Given the description of an element on the screen output the (x, y) to click on. 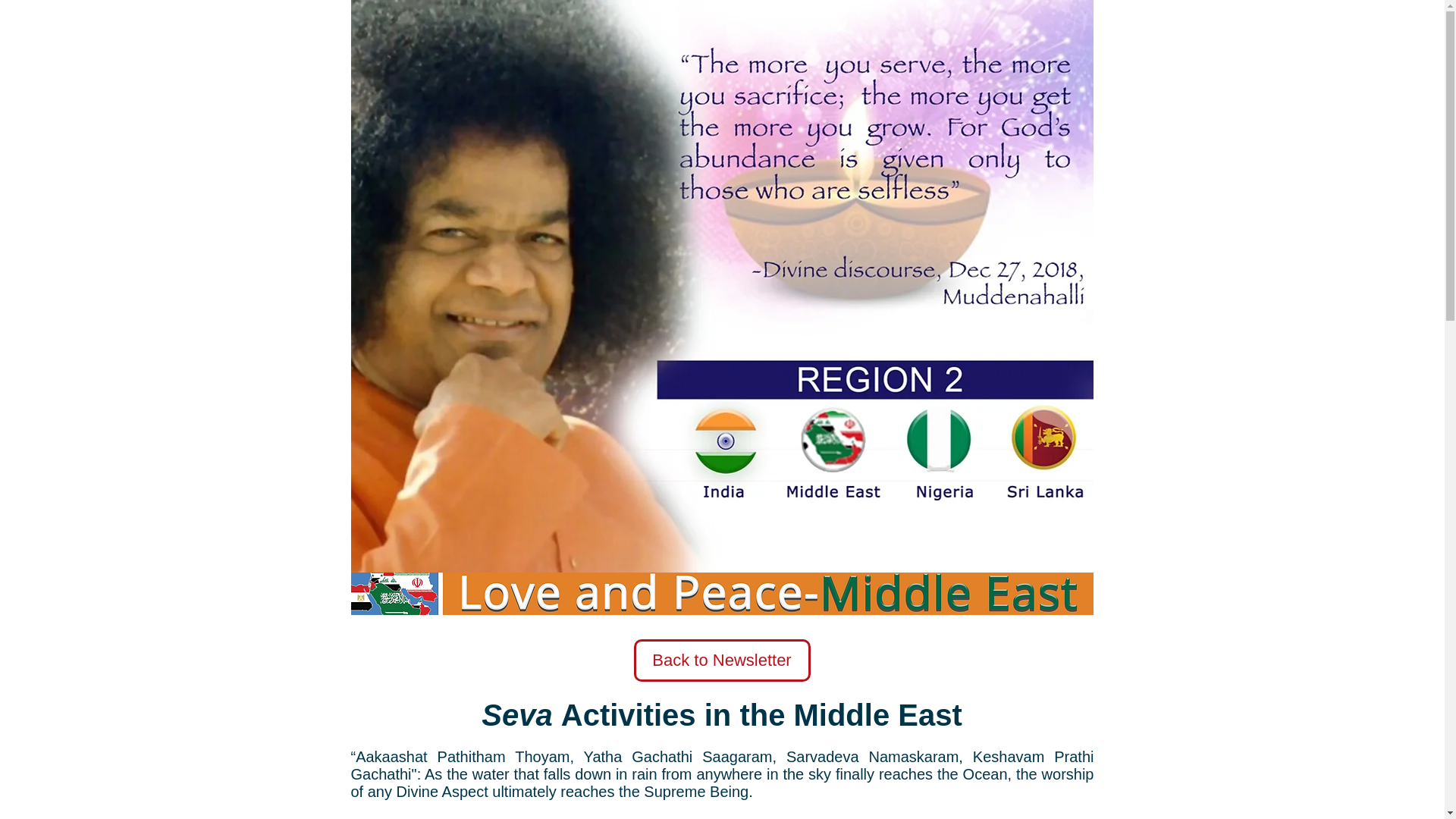
Back to Newsletter (721, 660)
